Given the description of an element on the screen output the (x, y) to click on. 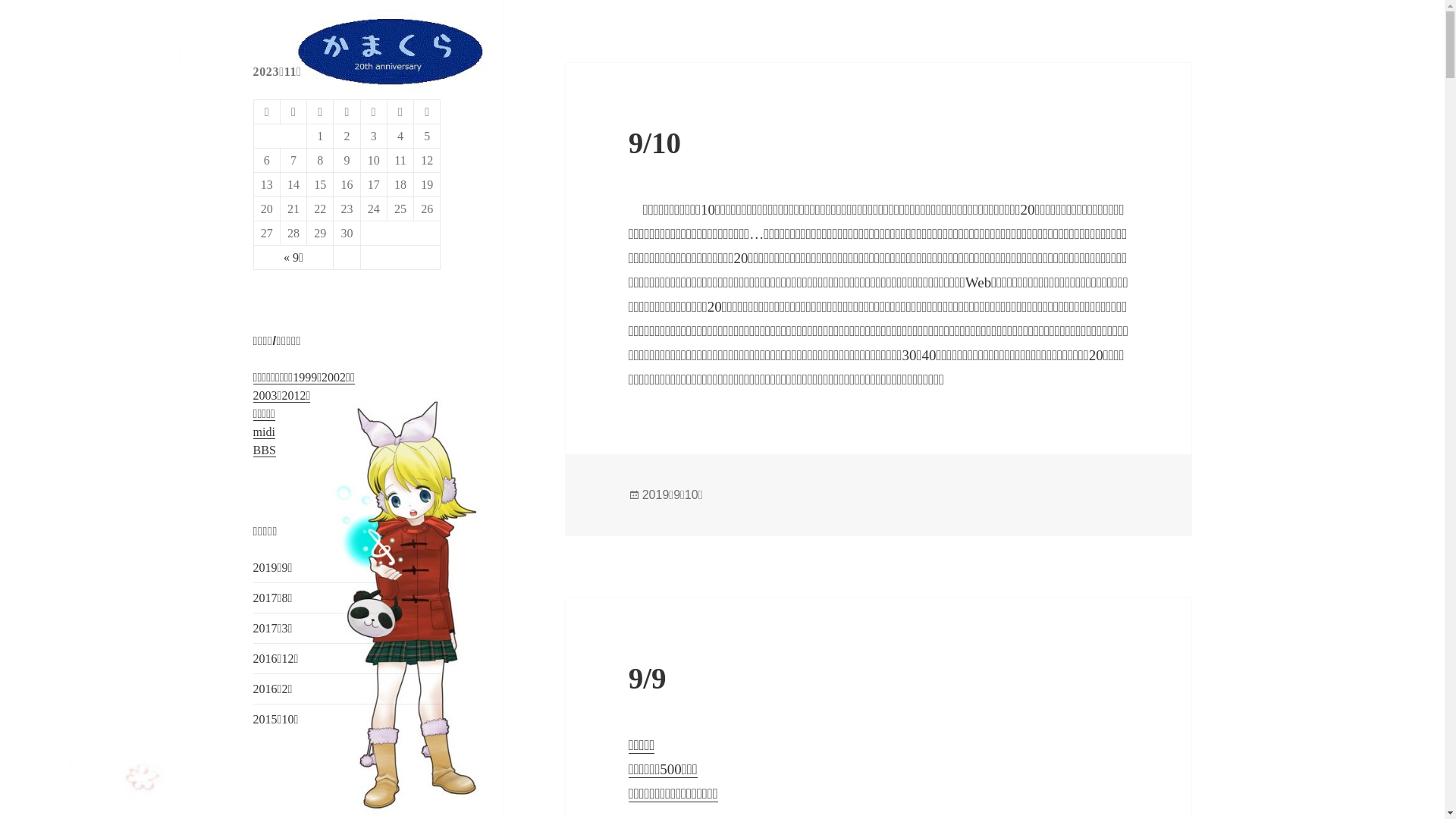
9/10 Element type: text (654, 142)
BBS Element type: text (264, 450)
9/9 Element type: text (647, 678)
midi Element type: text (264, 432)
